Given the description of an element on the screen output the (x, y) to click on. 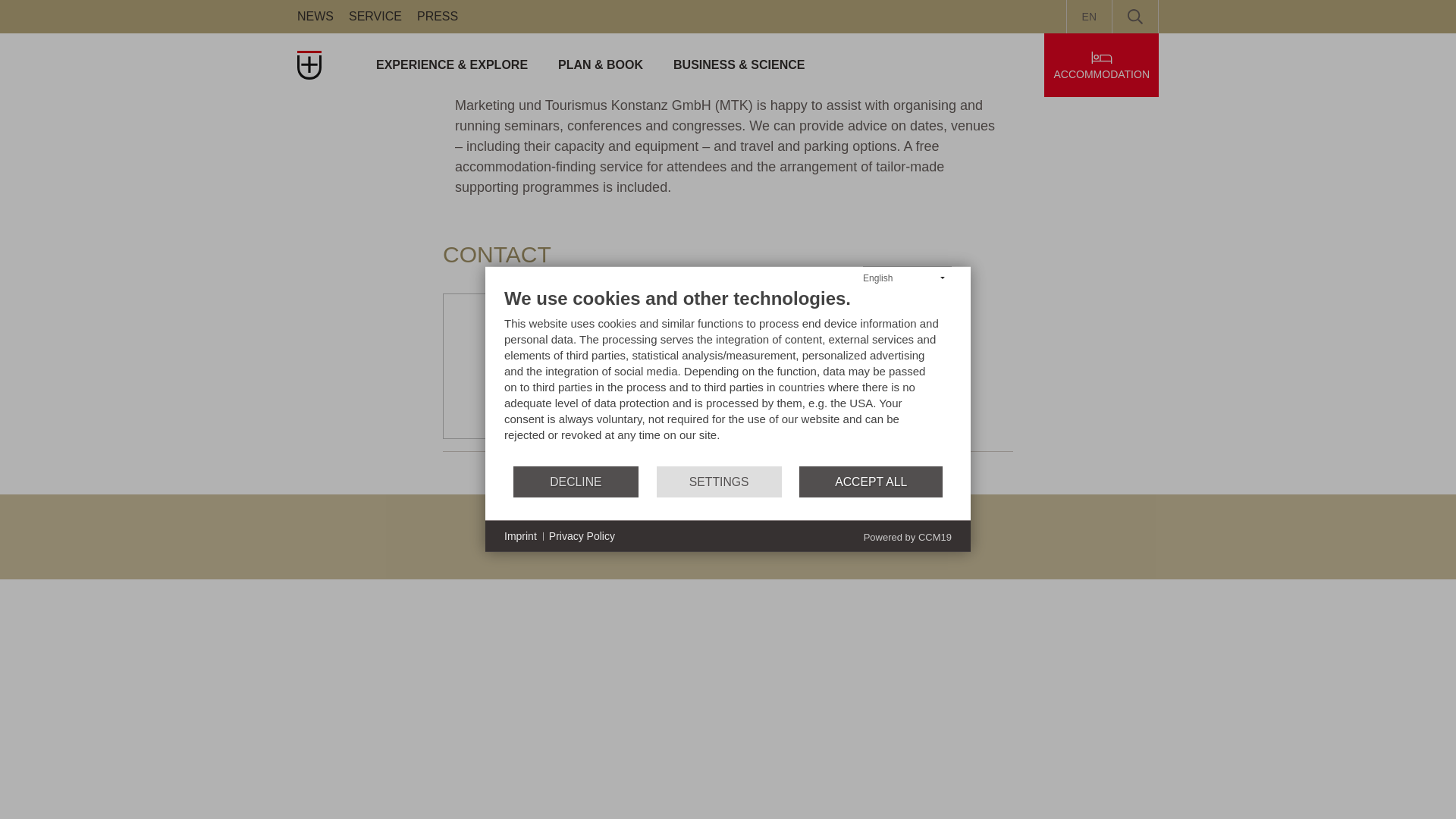
Instagram (393, 545)
Pinterest (351, 545)
YouTube (436, 545)
Facebook (309, 545)
